Given the description of an element on the screen output the (x, y) to click on. 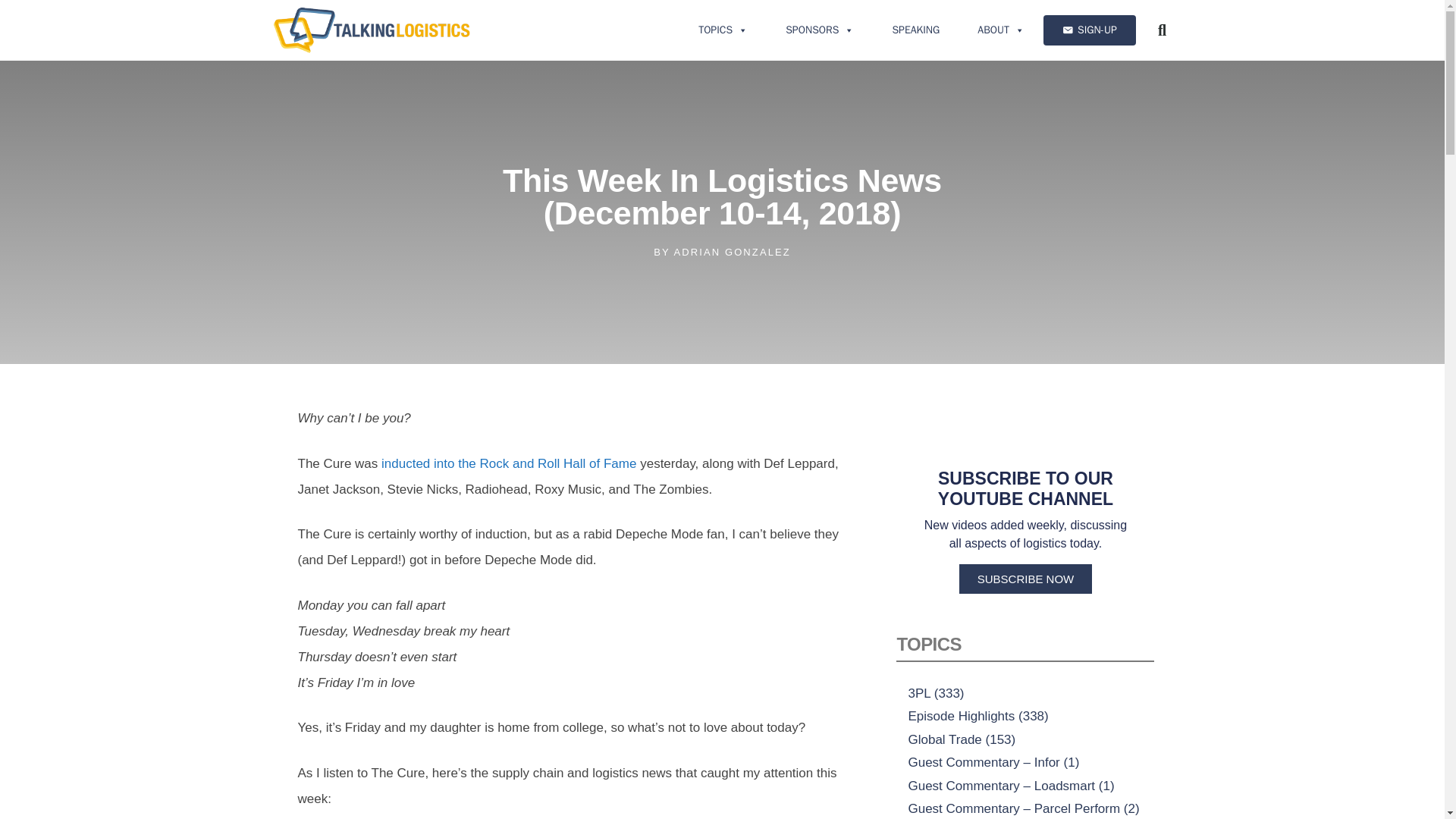
SPEAKING (915, 30)
TOPICS (723, 30)
SPONSORS (819, 30)
ABOUT (1000, 30)
SIGN-UP (1089, 30)
